Given the description of an element on the screen output the (x, y) to click on. 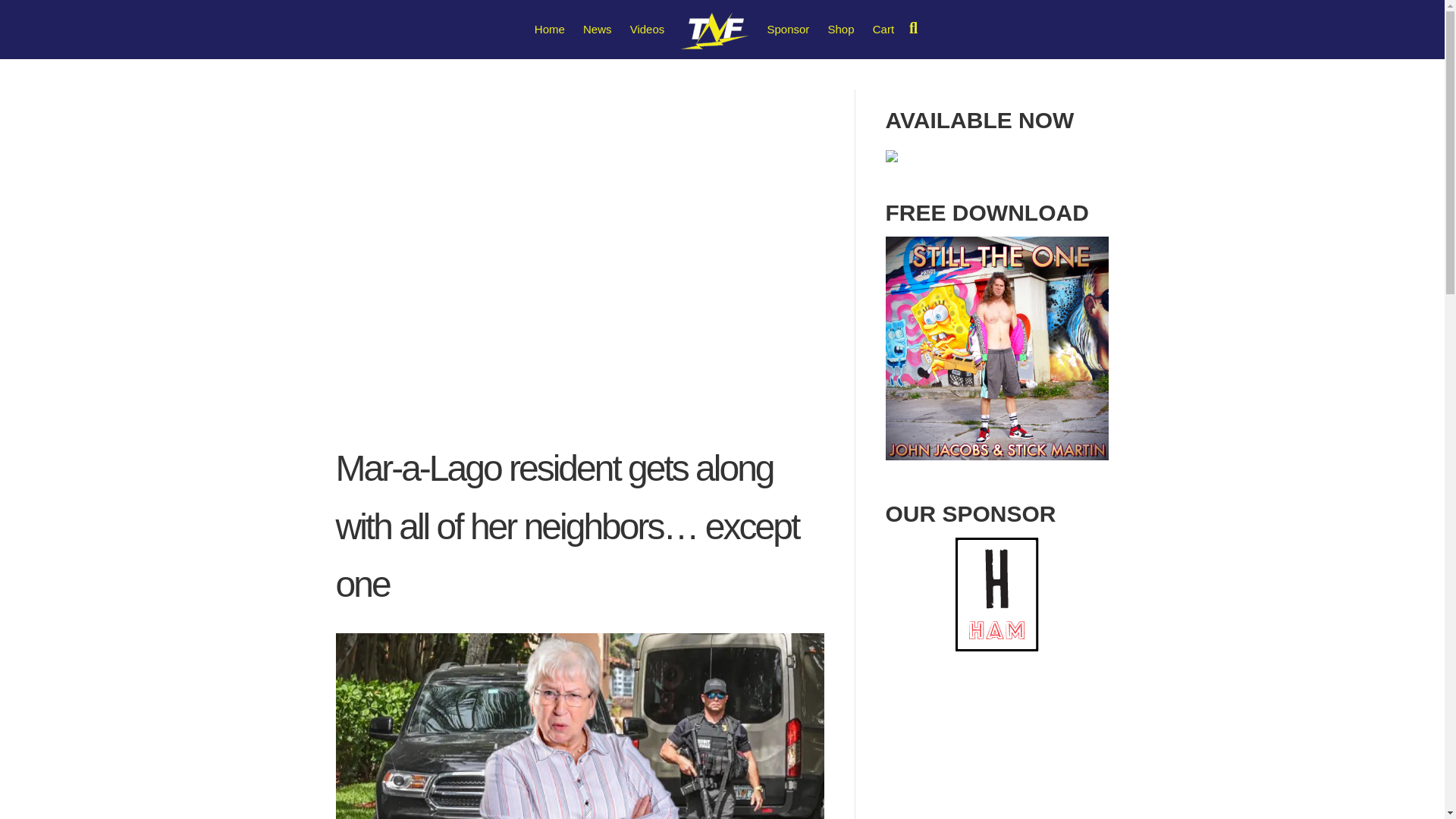
Linkedin (994, 800)
Shop (841, 28)
News (616, 646)
Sponsor (623, 617)
Subscribe (909, 678)
PayPal - The safer, easier way to pay online! (985, 565)
Advertisement (579, 286)
About (618, 587)
Privacy Policy (641, 675)
Advertisement (997, 750)
Facebook (903, 800)
Staff (613, 559)
Sponsor (787, 28)
Videos (647, 28)
Subscribe (909, 678)
